Given the description of an element on the screen output the (x, y) to click on. 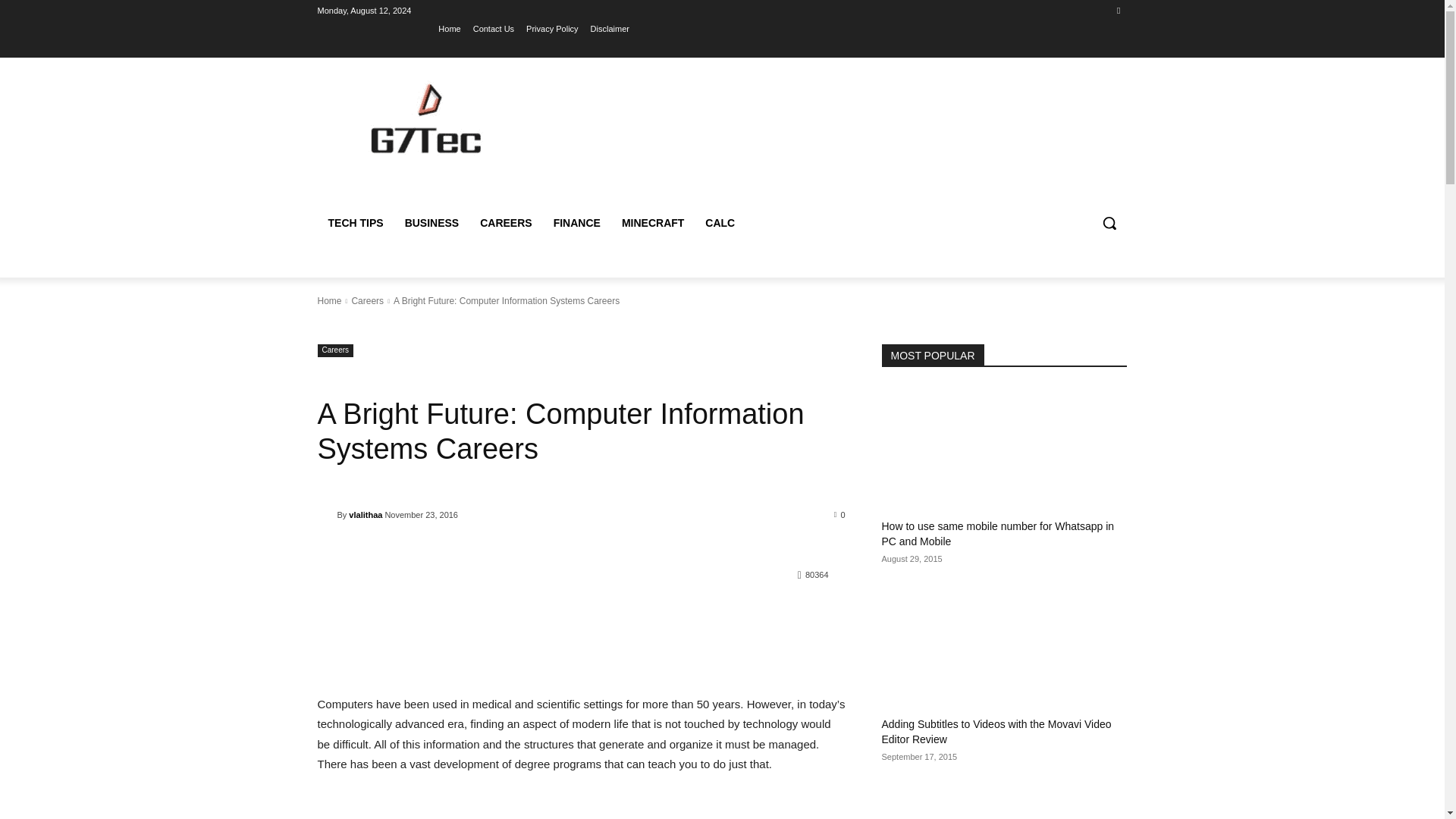
Careers (335, 350)
BUSINESS (432, 222)
vlalithaa (326, 514)
Disclaimer (609, 28)
Privacy Policy (551, 28)
Facebook (1117, 9)
Careers (367, 300)
0 (839, 513)
CAREERS (504, 222)
Contact Us (493, 28)
